Given the description of an element on the screen output the (x, y) to click on. 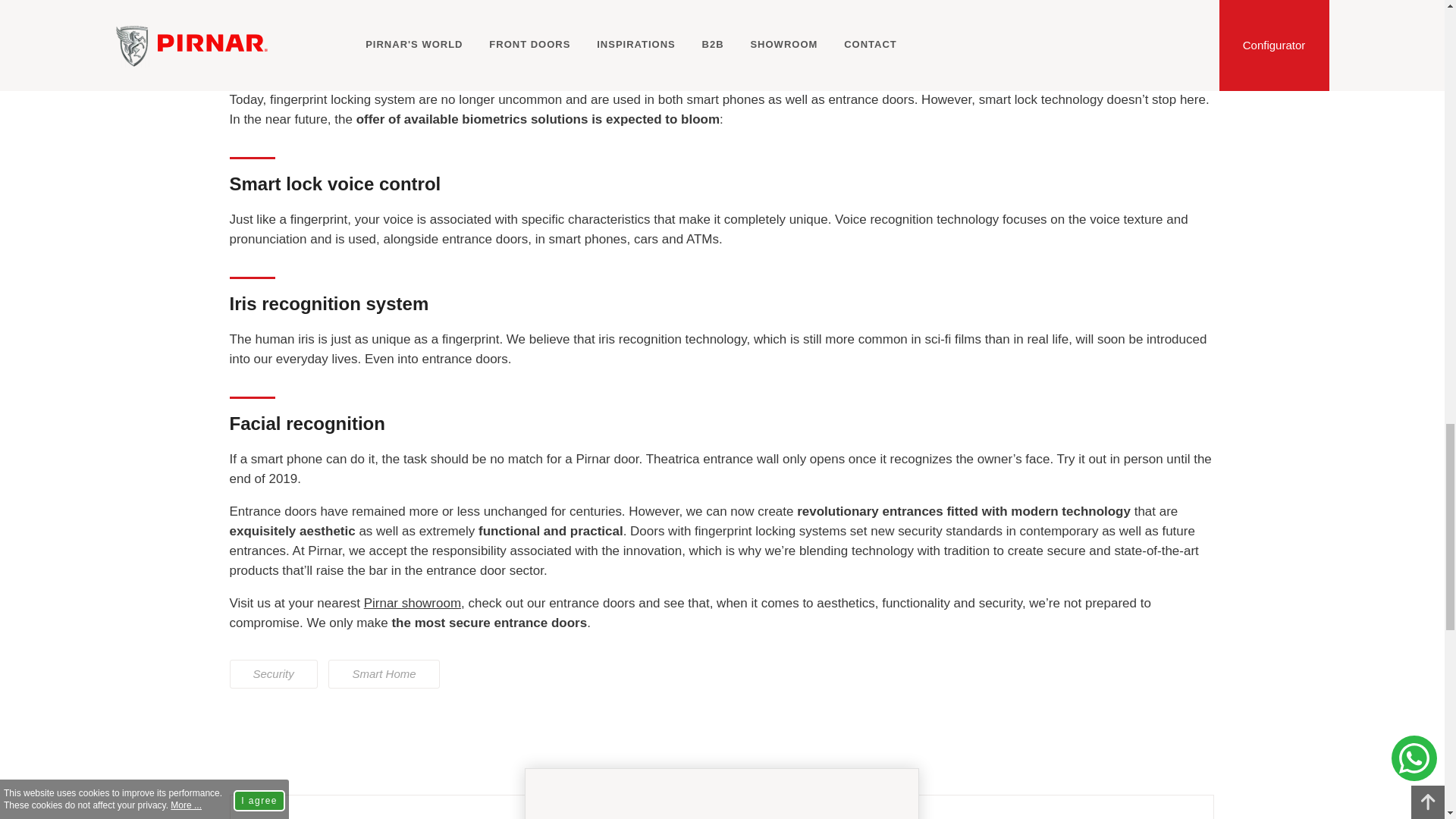
Pirnar showroom (412, 603)
Security (272, 674)
